Given the description of an element on the screen output the (x, y) to click on. 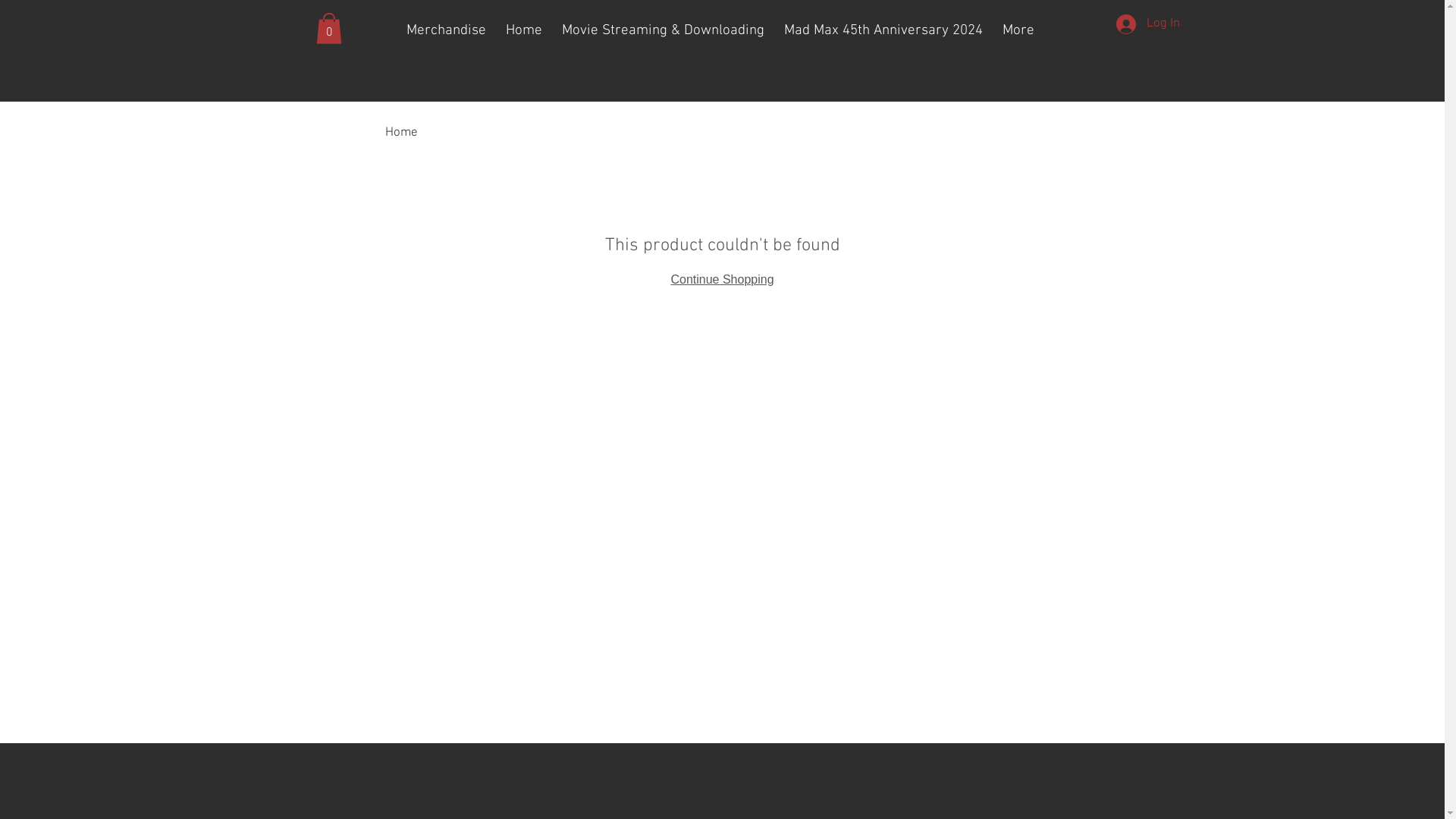
Continue Shopping Element type: text (721, 279)
Movie Streaming & Downloading Element type: text (663, 30)
Home Element type: text (523, 30)
0 Element type: text (328, 27)
Log In Element type: text (1147, 23)
Home Element type: text (401, 132)
Merchandise Element type: text (445, 30)
Mad Max 45th Anniversary 2024 Element type: text (883, 30)
